Given the description of an element on the screen output the (x, y) to click on. 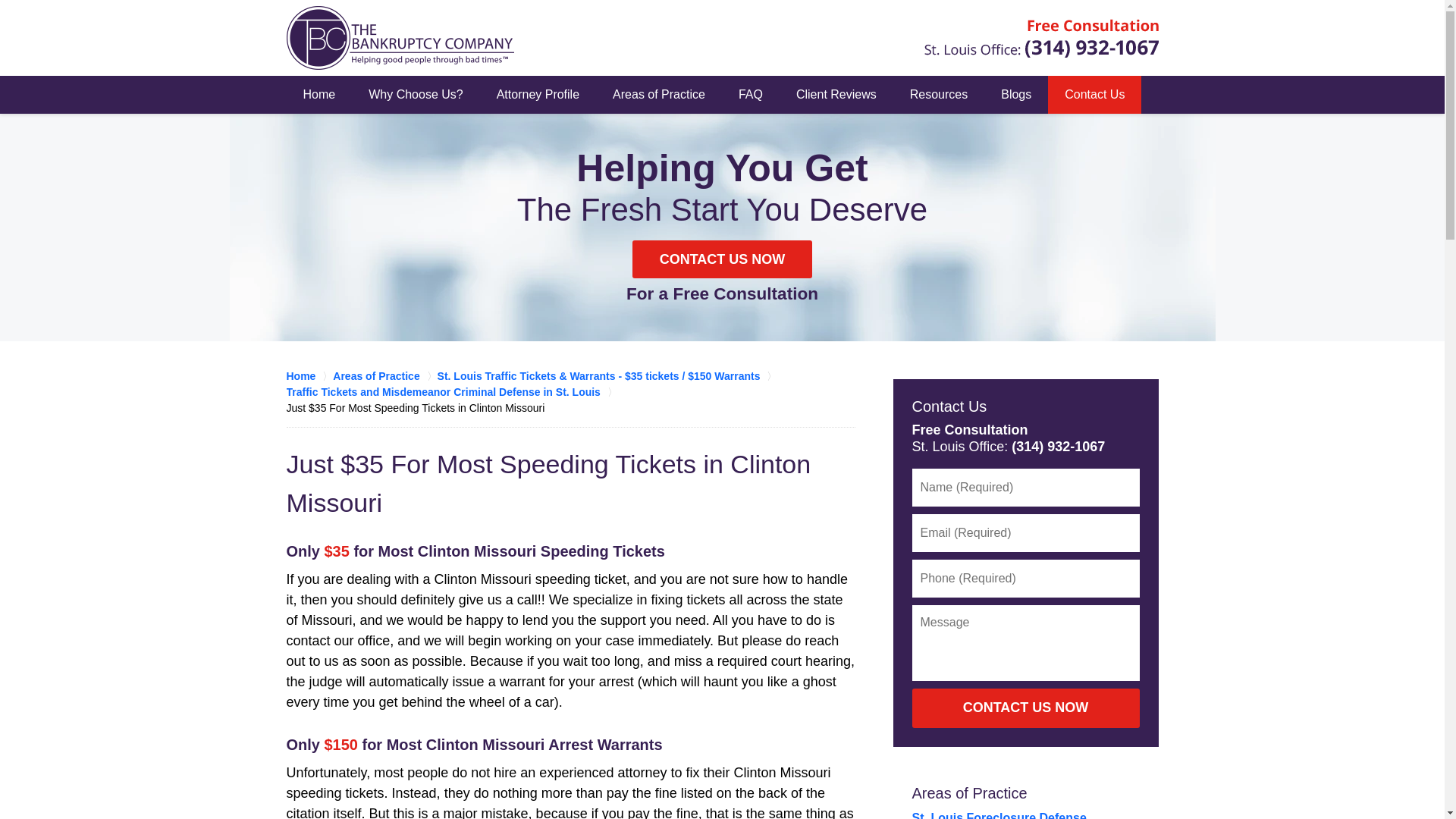
CONTACT US NOW (1024, 708)
Resources (938, 94)
St. Louis Foreclosure Defense (998, 815)
Blogs (1016, 94)
Attorney Profile (537, 94)
Home (309, 376)
Areas of Practice (658, 94)
FAQ (750, 94)
Why Choose Us? (416, 94)
Home (319, 94)
Client Reviews (835, 94)
Contact Us (1094, 94)
CONTACT US NOW (721, 259)
Areas of Practice (968, 792)
